Given the description of an element on the screen output the (x, y) to click on. 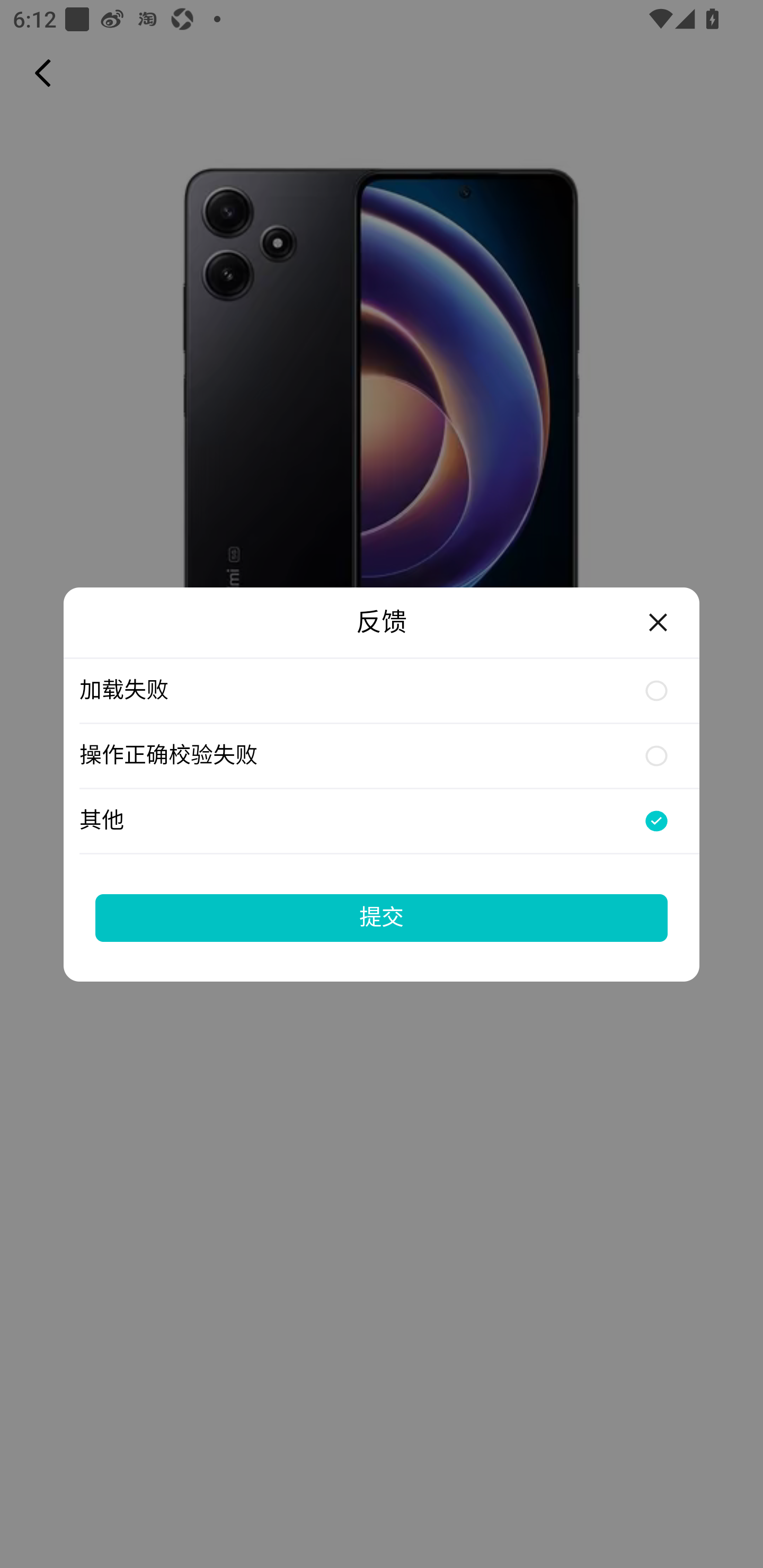
提交 (381, 917)
